Given the description of an element on the screen output the (x, y) to click on. 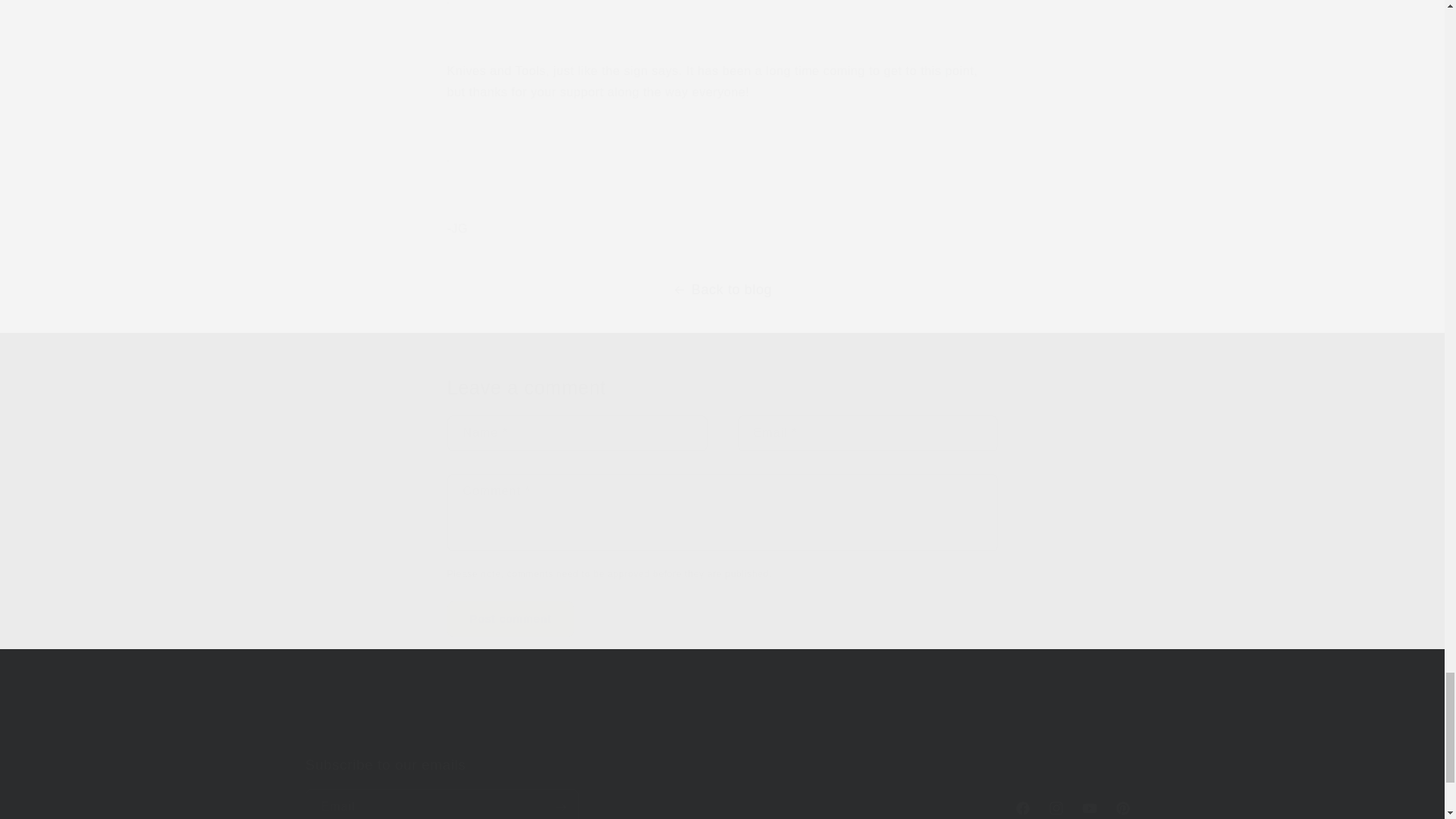
Post comment (510, 619)
NEWS (757, 734)
CUTLERY ARCHIVE (843, 734)
Post comment (510, 619)
ABOUT (706, 734)
